Given the description of an element on the screen output the (x, y) to click on. 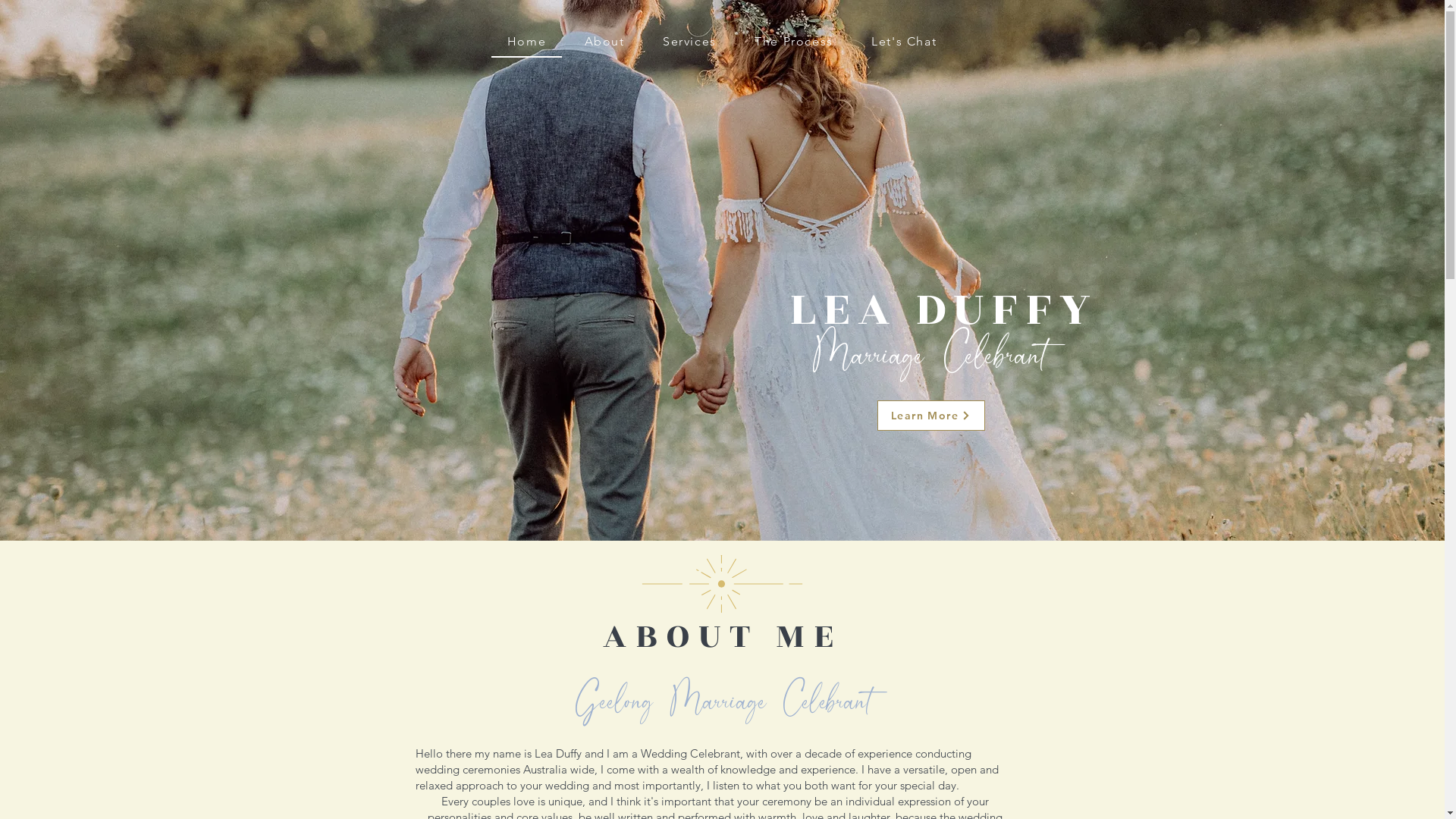
Services Element type: text (689, 41)
Learn More Element type: text (930, 415)
About Element type: text (603, 41)
Let's Chat Element type: text (903, 41)
Home Element type: text (526, 41)
The Process Element type: text (793, 41)
